Given the description of an element on the screen output the (x, y) to click on. 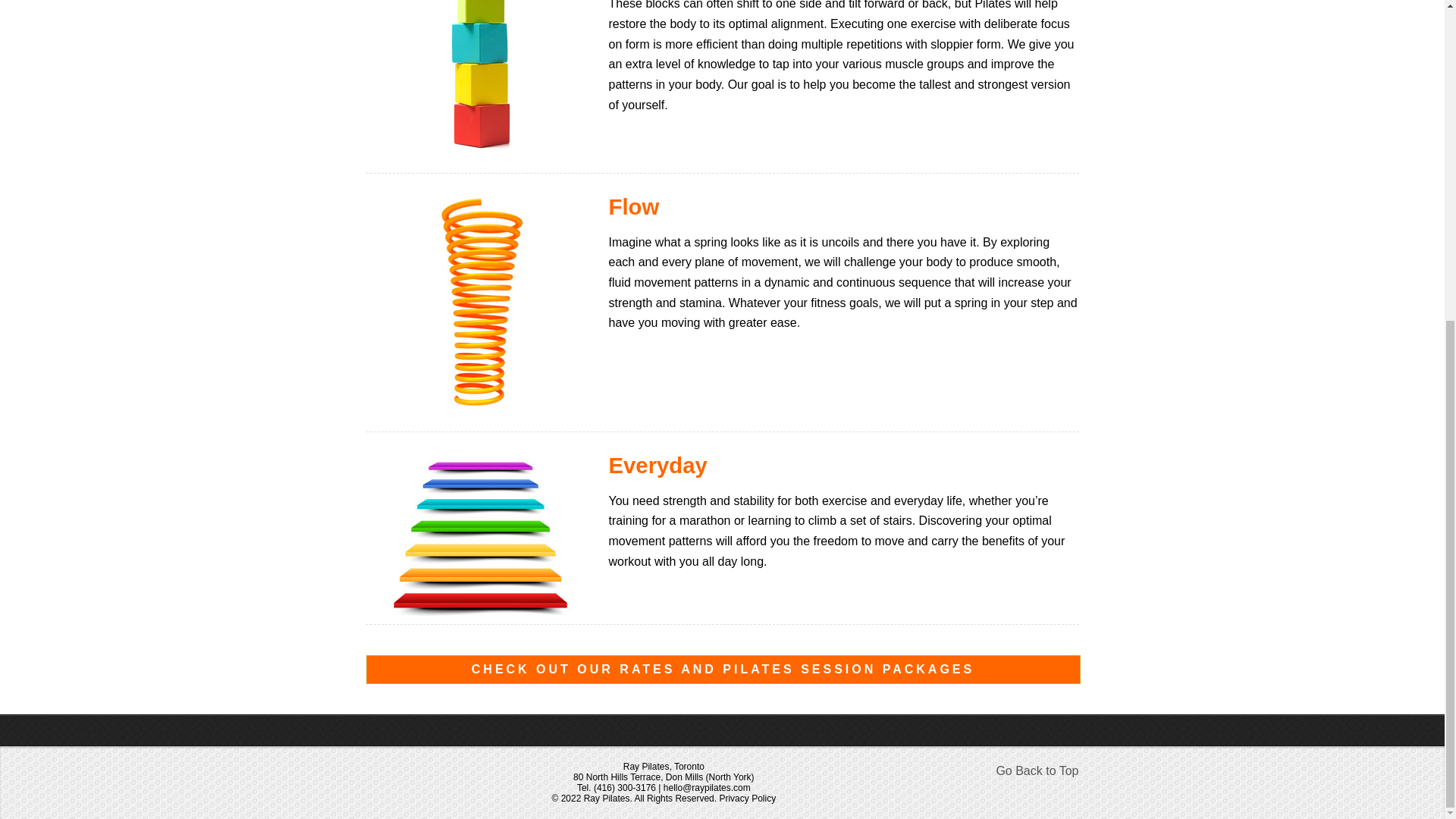
CHECK OUT OUR RATES AND PILATES SESSION PACKAGES (722, 669)
Go Back to Top (1036, 771)
Privacy Policy (747, 798)
